Given the description of an element on the screen output the (x, y) to click on. 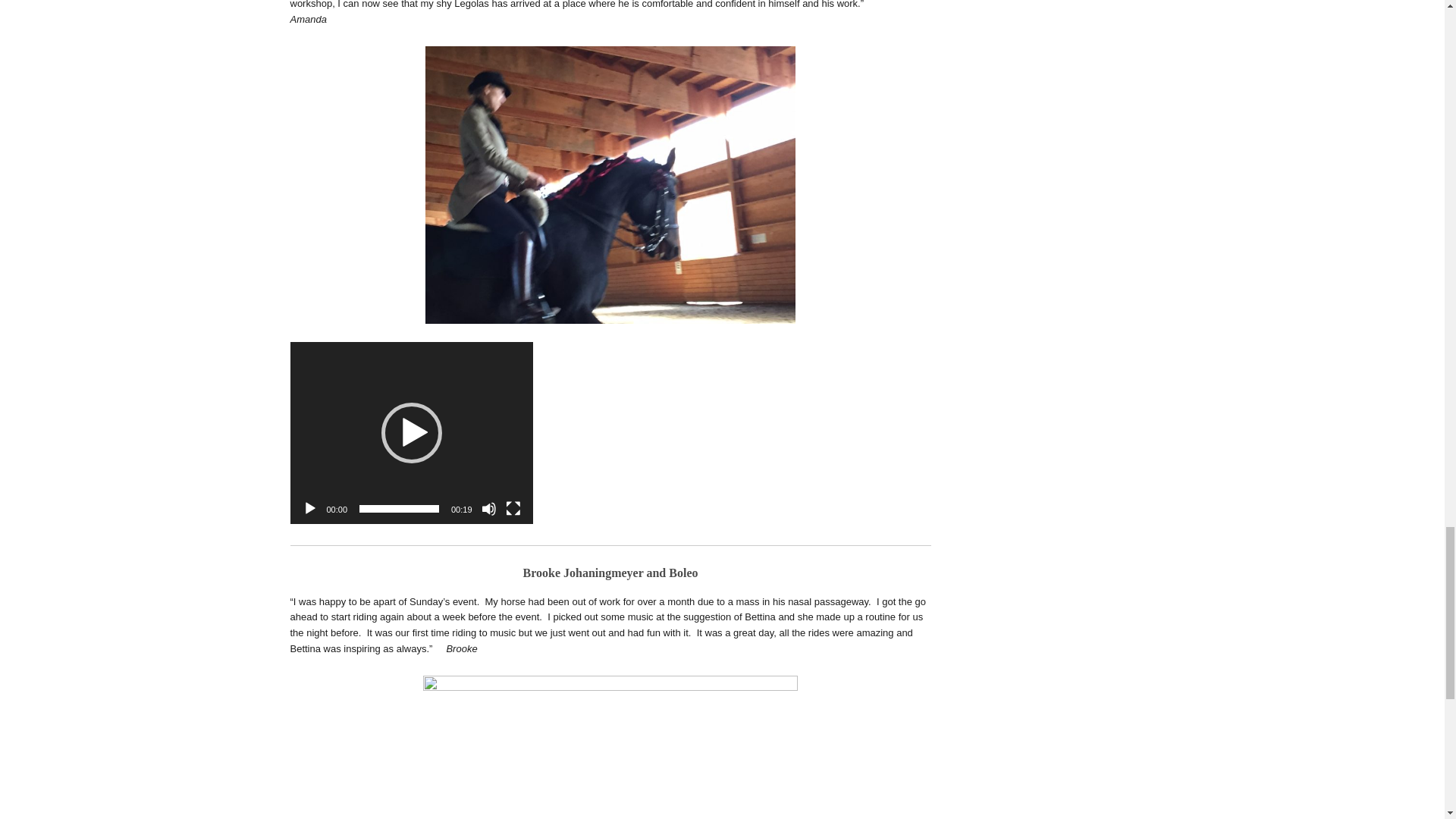
Mute (488, 508)
Fullscreen (512, 508)
Play (309, 508)
